Given the description of an element on the screen output the (x, y) to click on. 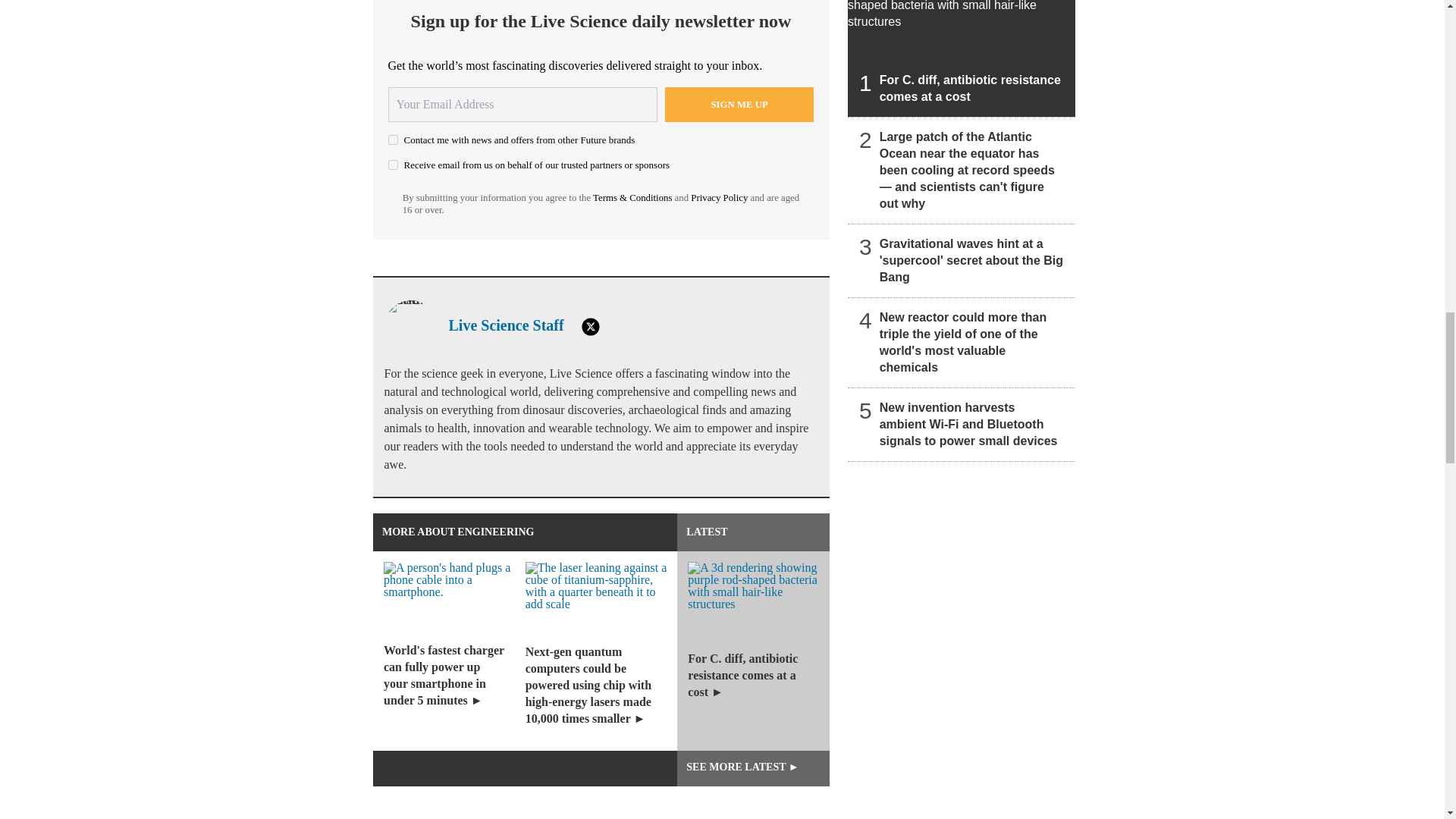
For C. diff, antibiotic resistance comes at a cost (961, 58)
Sign me up (739, 104)
on (392, 139)
on (392, 164)
